Given the description of an element on the screen output the (x, y) to click on. 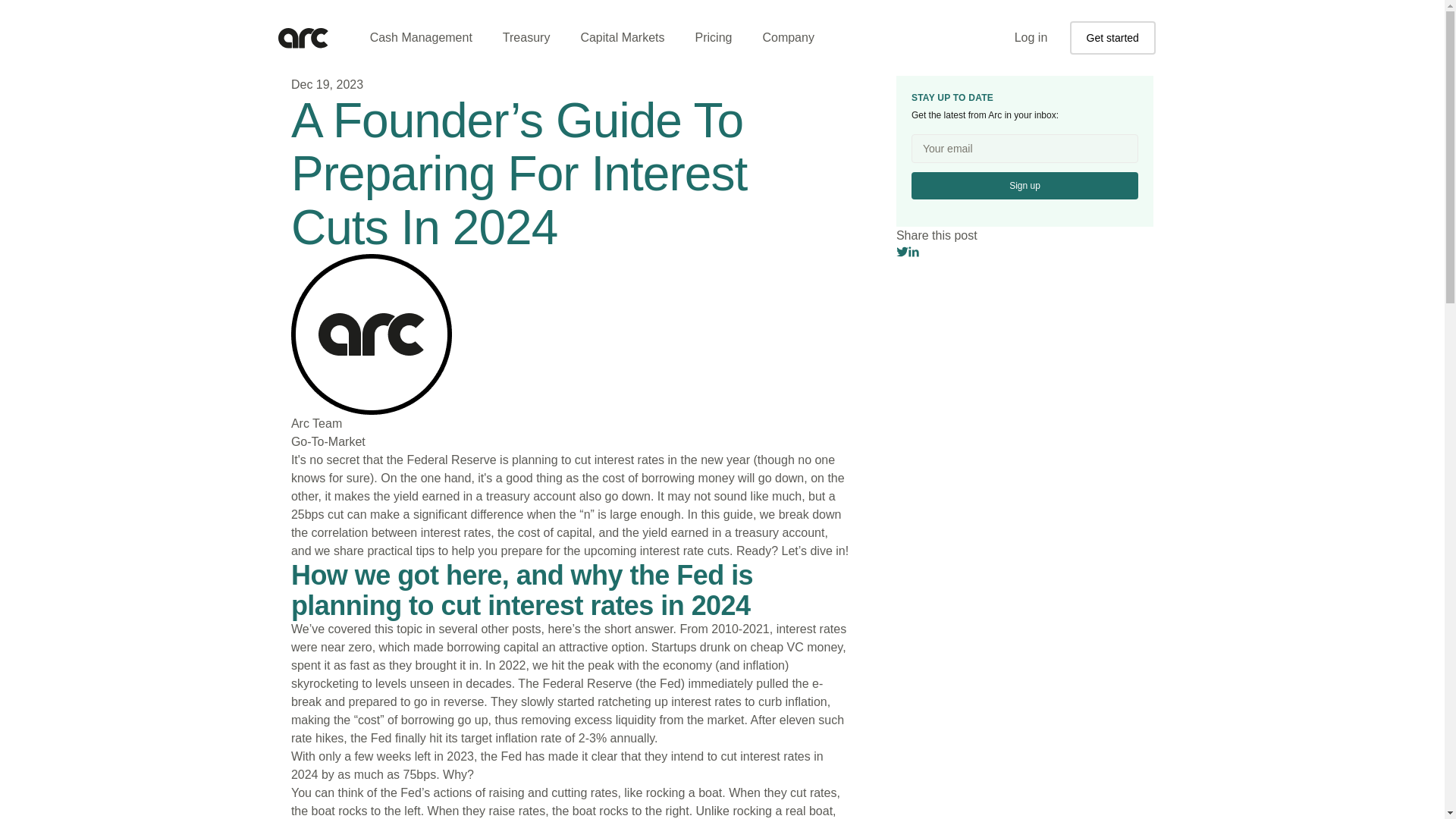
Pricing (713, 37)
Get started (1113, 37)
Sign up (1024, 185)
Company (787, 37)
Cash Management (421, 37)
Capital Markets (621, 37)
Log in (1031, 37)
Treasury (526, 37)
